Given the description of an element on the screen output the (x, y) to click on. 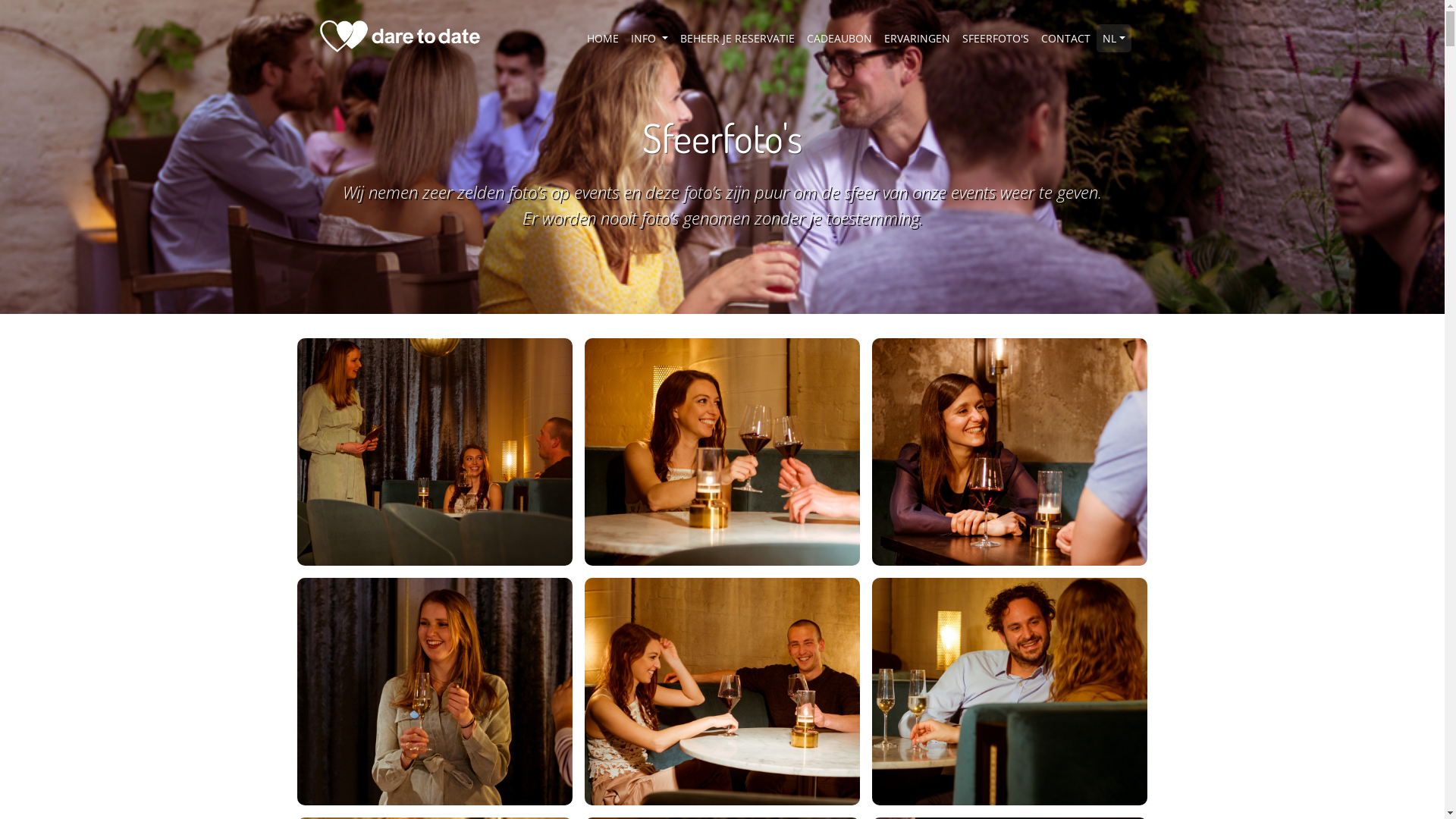
ERVARINGEN Element type: text (917, 38)
NL Element type: text (1113, 38)
CONTACT Element type: text (1065, 38)
SFEERFOTO'S Element type: text (995, 38)
CADEAUBON Element type: text (839, 38)
INFO Element type: text (649, 38)
HOME Element type: text (602, 38)
BEHEER JE RESERVATIE Element type: text (737, 38)
